Given the description of an element on the screen output the (x, y) to click on. 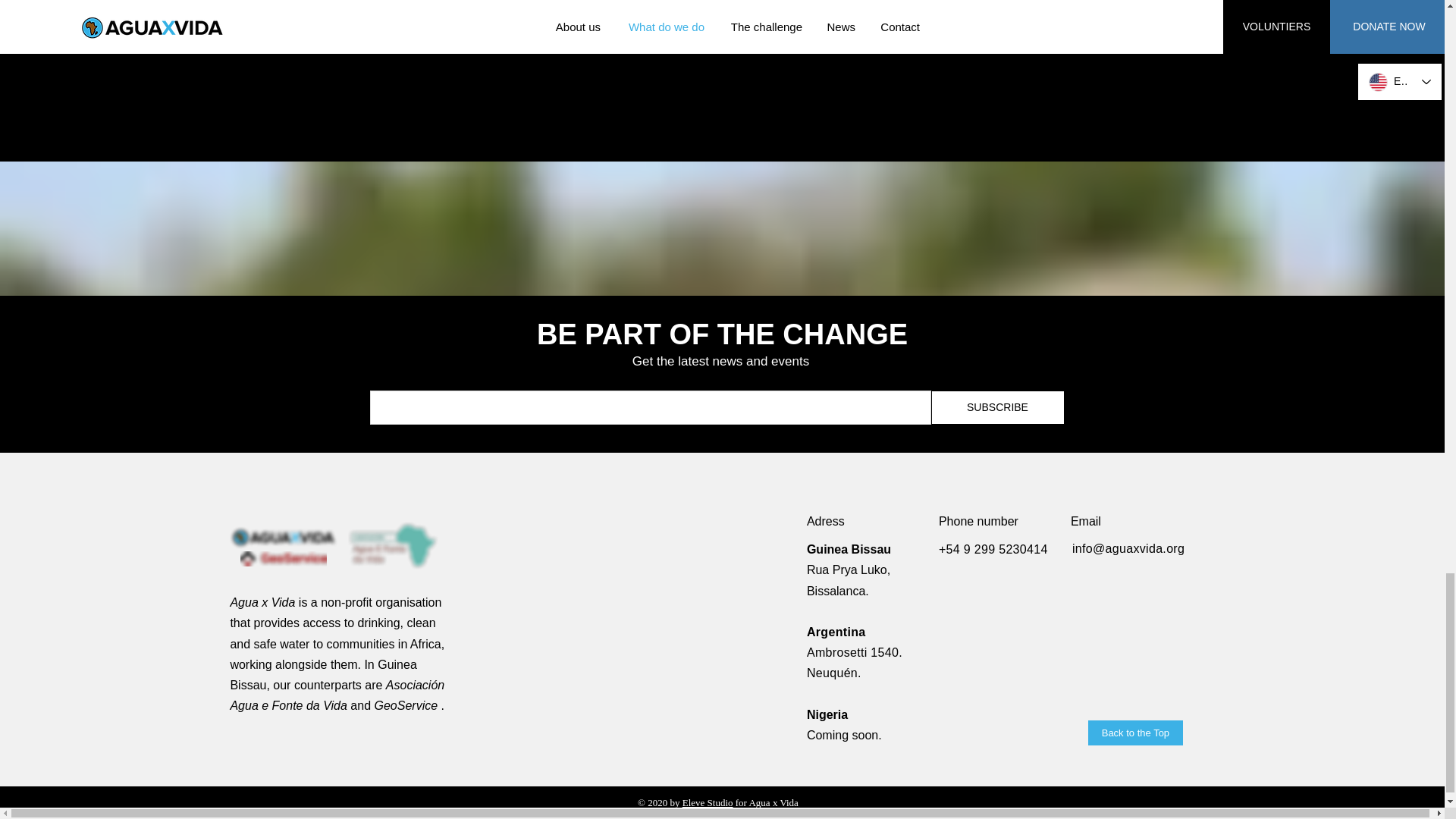
Eleve Studio (707, 802)
Back to the Top (1134, 732)
SUBSCRIBE (997, 407)
